Given the description of an element on the screen output the (x, y) to click on. 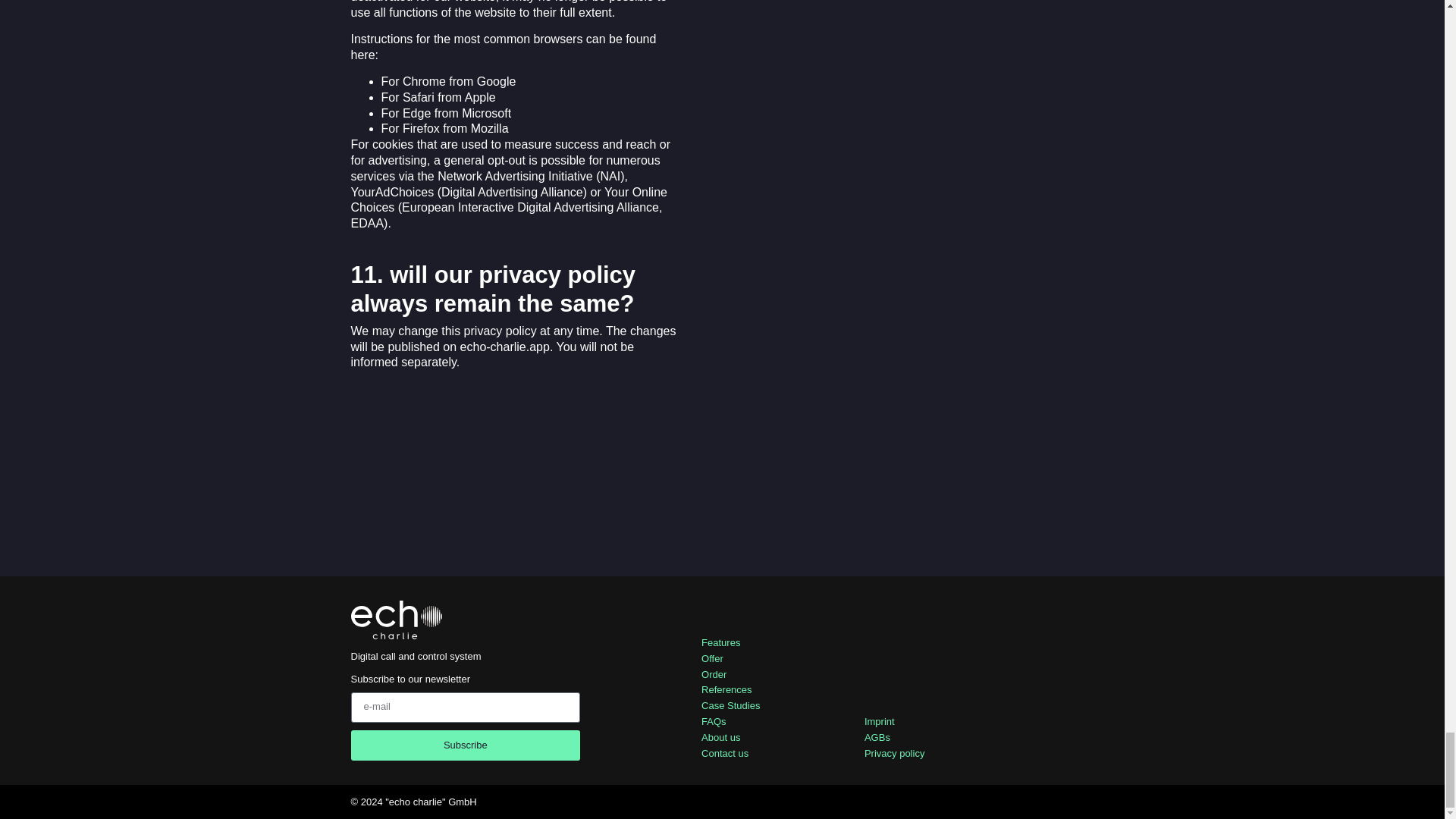
Subscribe (464, 745)
Offer (770, 658)
Contact us (770, 753)
Case Studies (770, 706)
About us (770, 738)
Privacy policy (979, 753)
Features (770, 643)
Order (770, 675)
Imprint (979, 721)
FAQs (770, 721)
